Given the description of an element on the screen output the (x, y) to click on. 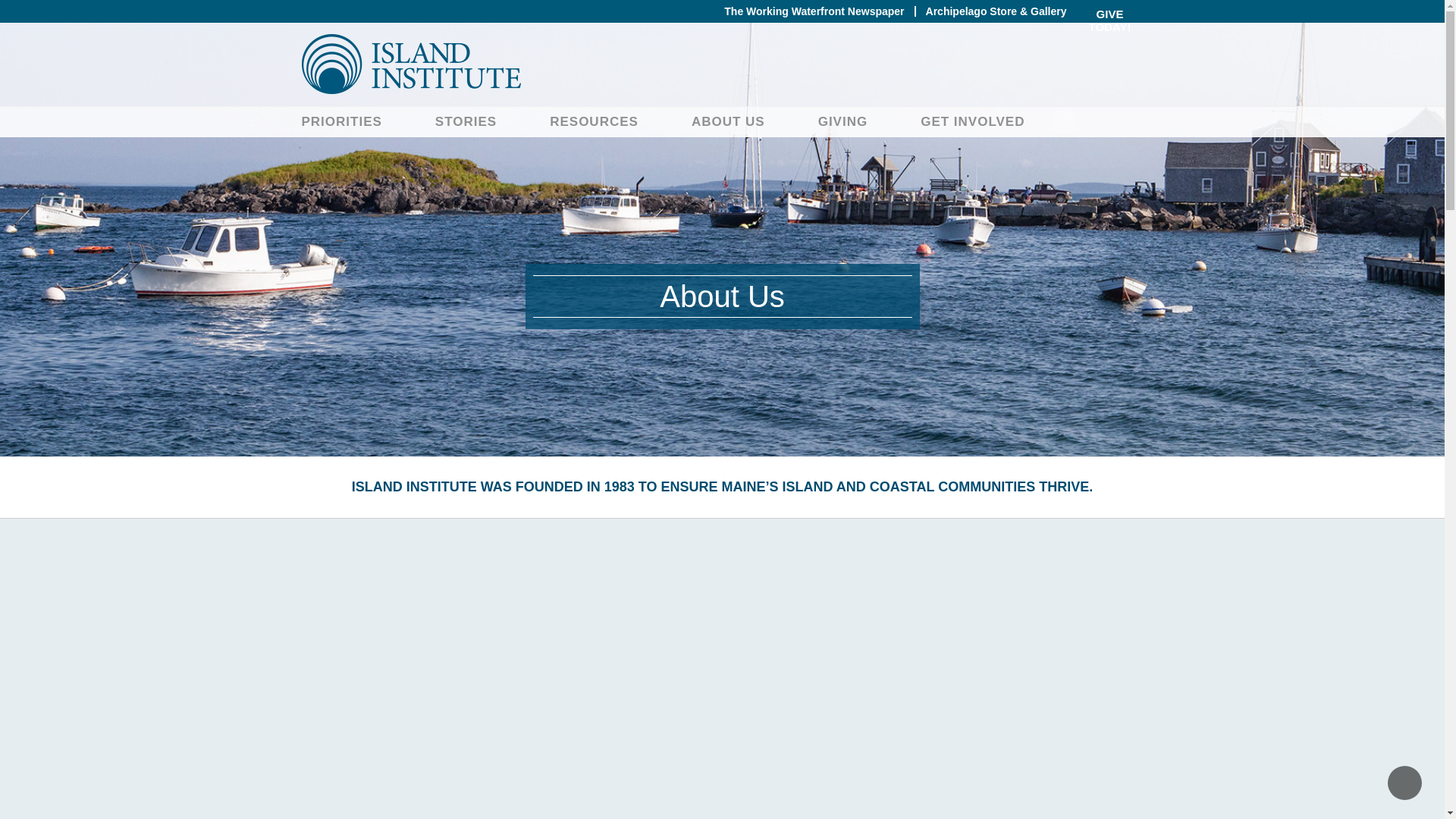
The Working Waterfront Newspaper (813, 10)
PRIORITIES (341, 121)
Give Today! (1109, 26)
The Working Waterfront Newspaper (813, 10)
Priorities (341, 121)
GIVE TODAY! (1109, 26)
Island Institute (721, 64)
STORIES (465, 121)
